Given the description of an element on the screen output the (x, y) to click on. 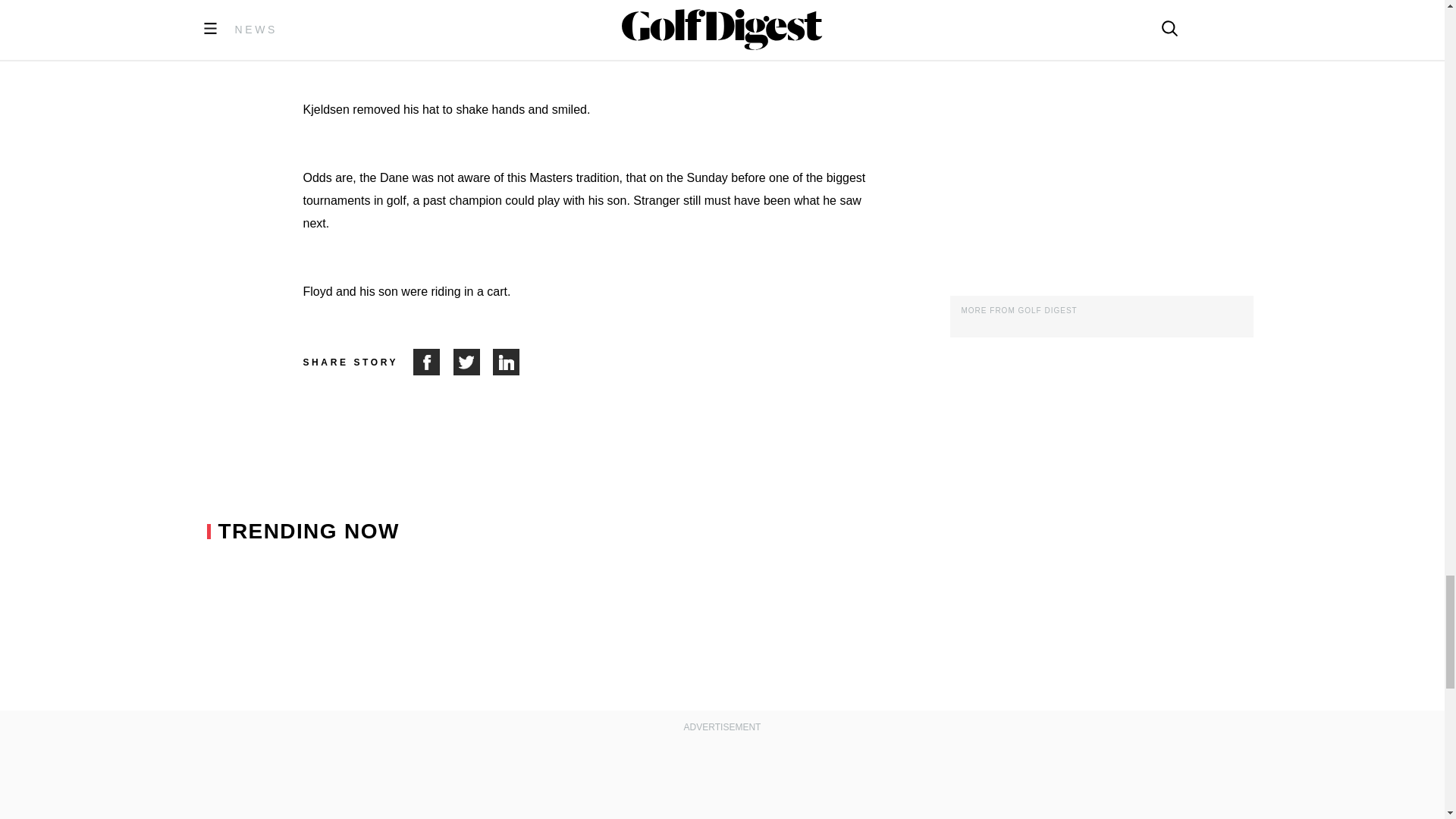
Share on Twitter (472, 361)
Share on LinkedIn (506, 361)
Share on Facebook (432, 361)
